Given the description of an element on the screen output the (x, y) to click on. 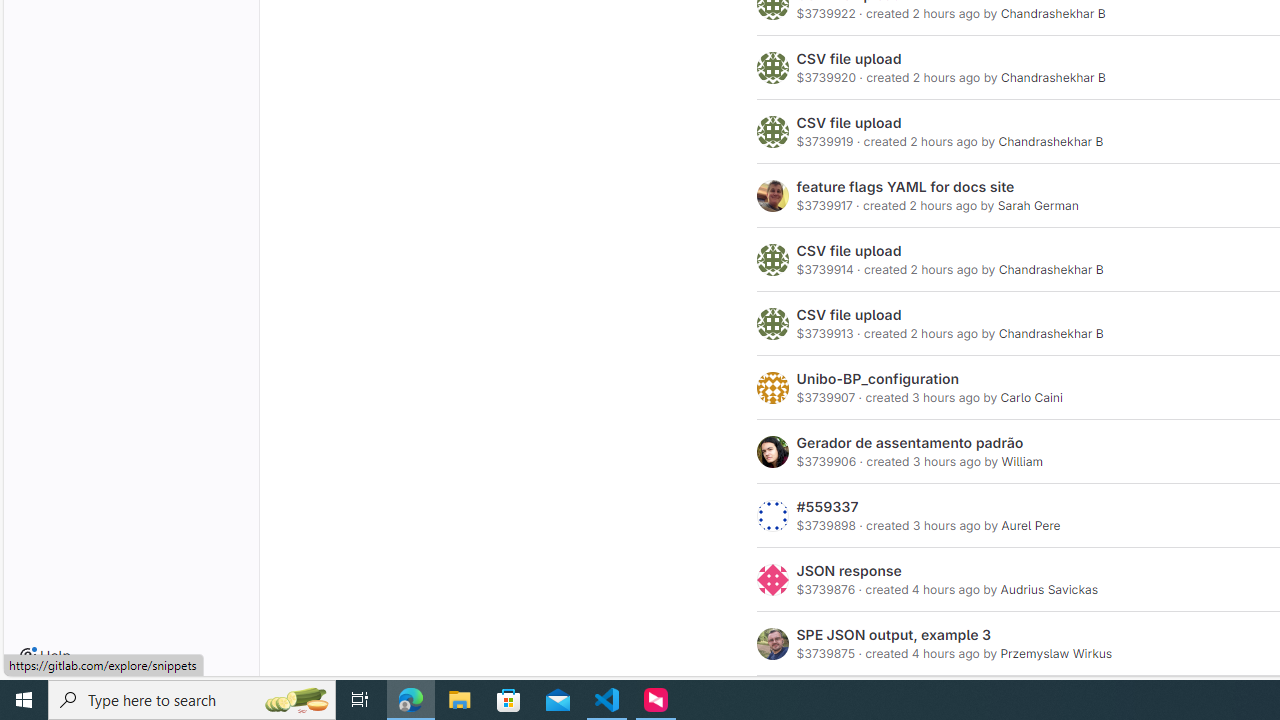
Help (45, 655)
Audrius Savickas (1049, 589)
William (1021, 462)
Aurel Pere (1030, 525)
feature flags YAML for docs site (905, 186)
Unibo-BP_configuration (878, 379)
Sarah German (1038, 205)
Chandrashekhar B (1050, 334)
#559337 (827, 507)
CSV file upload (849, 315)
SPE JSON output, example 3 (894, 634)
Przemyslaw Wirkus (1056, 653)
Carlo Caini (1030, 398)
JSON response (849, 571)
